Given the description of an element on the screen output the (x, y) to click on. 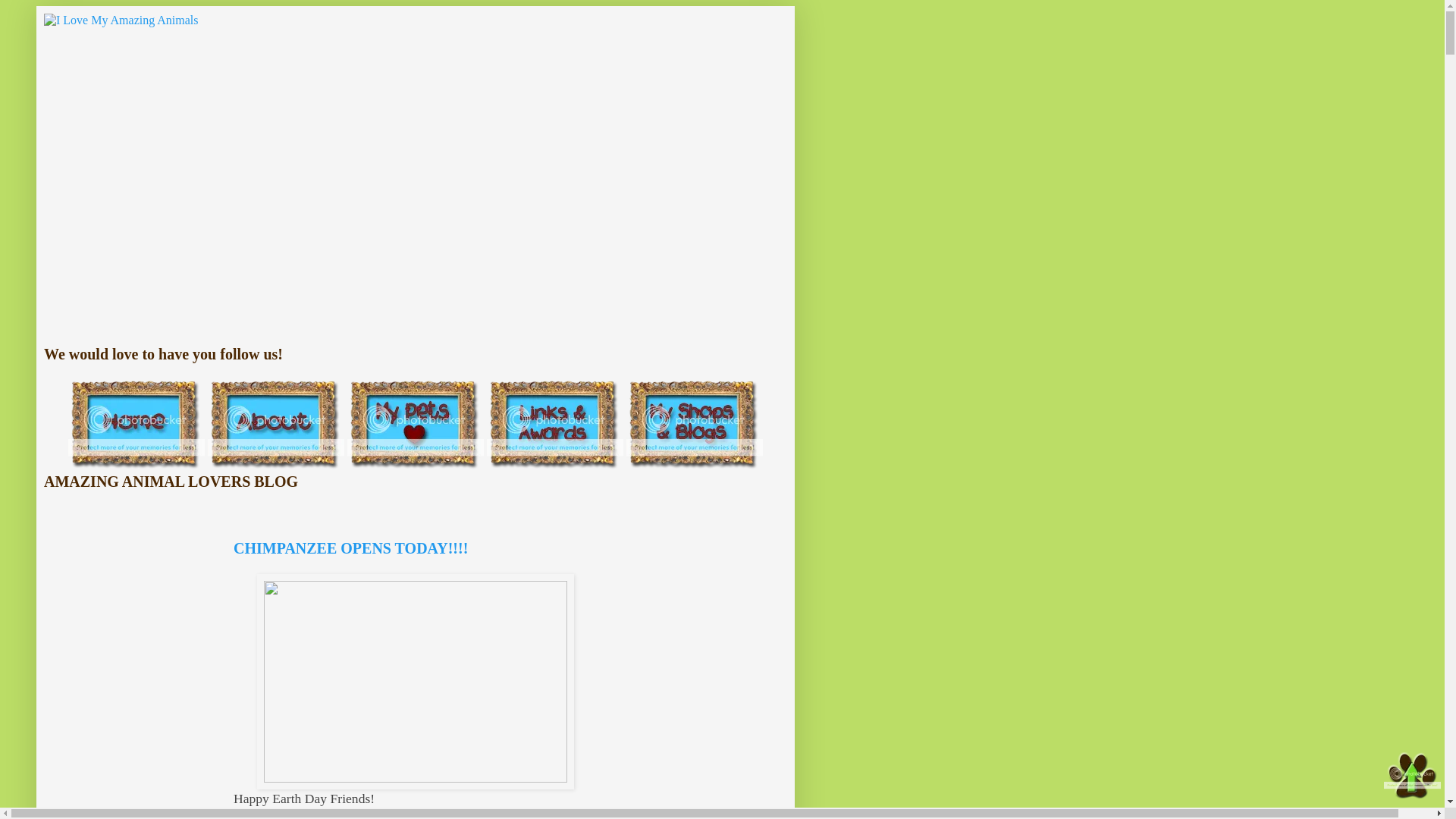
CHIMPANZEE OPENS TODAY!!!! (349, 547)
